Given the description of an element on the screen output the (x, y) to click on. 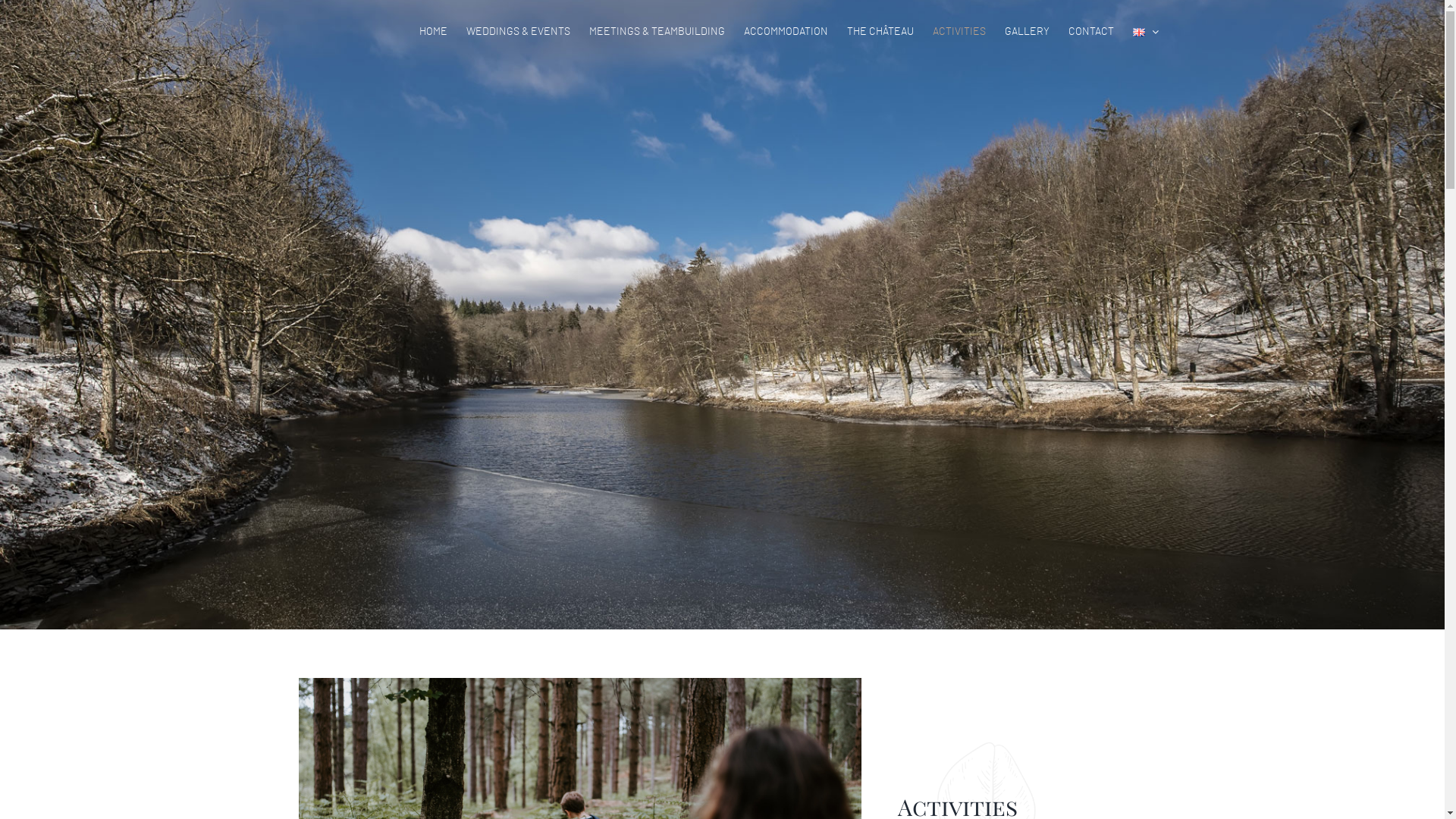
ACTIVITIES Element type: text (958, 31)
CONTACT Element type: text (1090, 31)
MEETINGS & TEAMBUILDING Element type: text (656, 31)
WEDDINGS & EVENTS Element type: text (517, 31)
ACCOMMODATION Element type: text (785, 31)
HOME Element type: text (432, 31)
GALLERY Element type: text (1026, 31)
English Element type: hover (1138, 32)
